Given the description of an element on the screen output the (x, y) to click on. 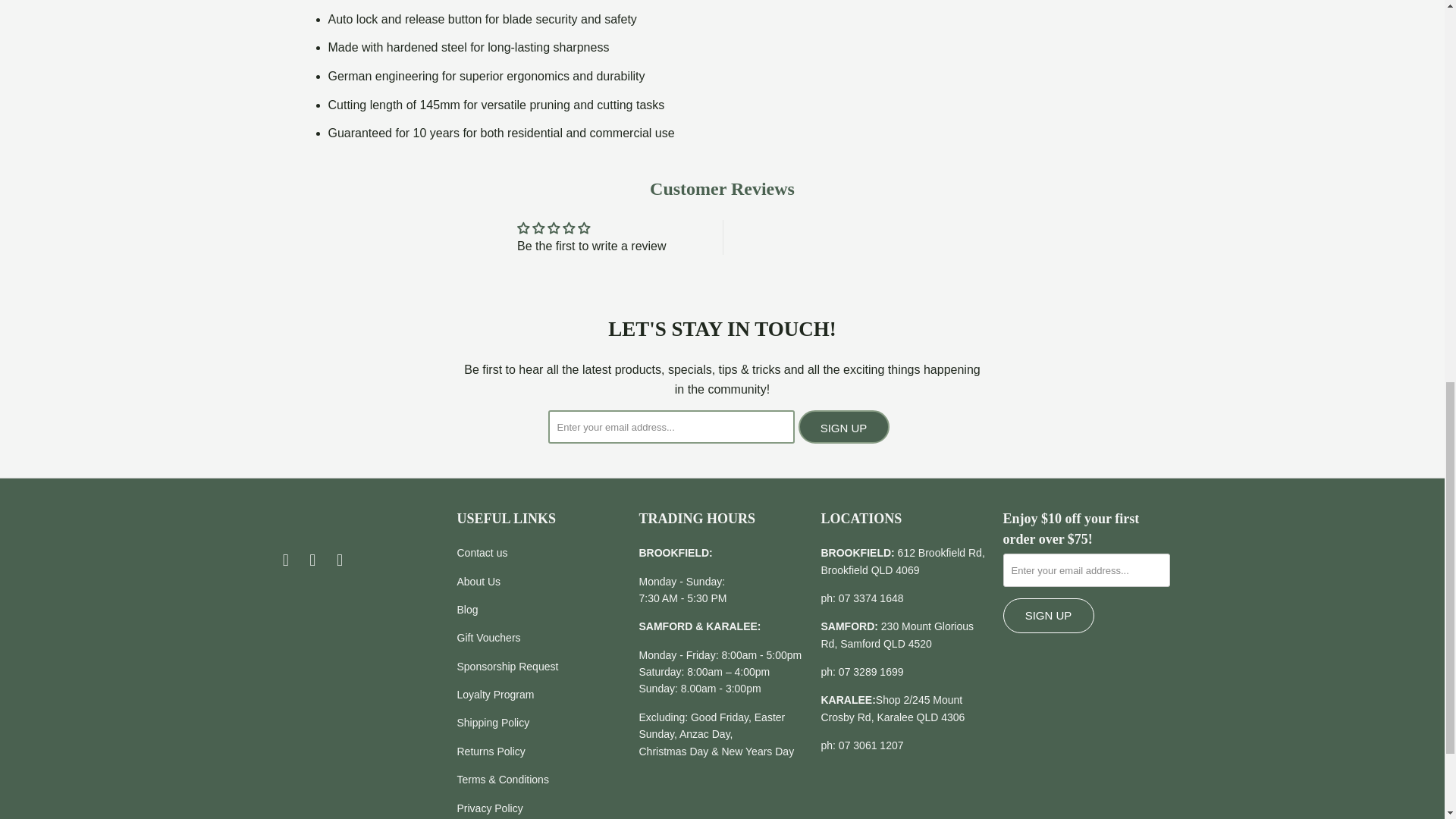
Brookies Rural Traders on Instagram (312, 560)
Sign Up (842, 426)
Sign Up (1048, 615)
Brookies Rural Traders on YouTube (340, 560)
Brookies Rural Traders on Facebook (286, 560)
